Given the description of an element on the screen output the (x, y) to click on. 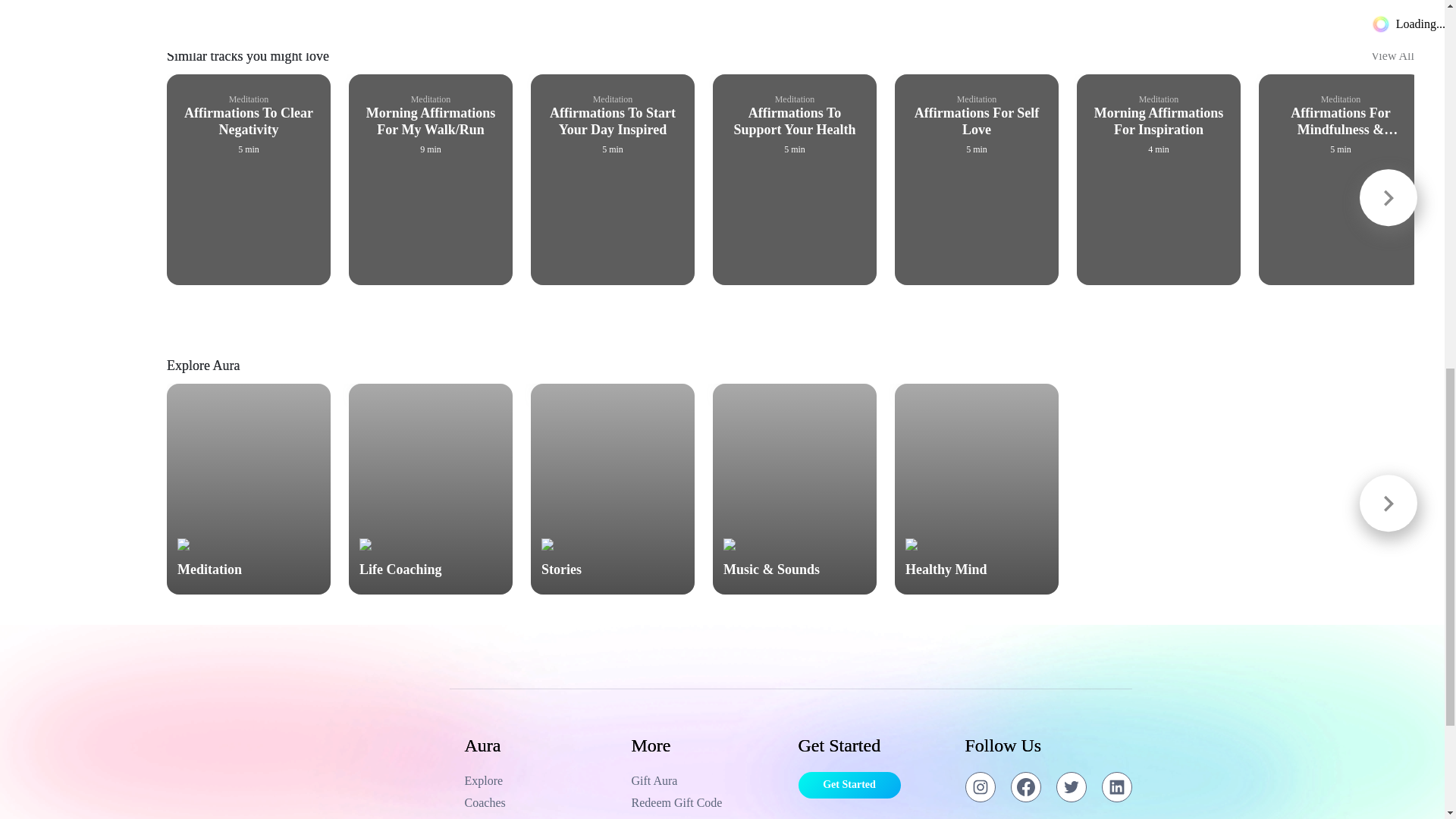
View All (1392, 60)
Gift Card Terms (706, 817)
Coaches (539, 802)
Tracks (539, 817)
Explore (539, 781)
Get Started (848, 785)
Redeem Gift Code (706, 802)
Gift Aura (706, 781)
